Given the description of an element on the screen output the (x, y) to click on. 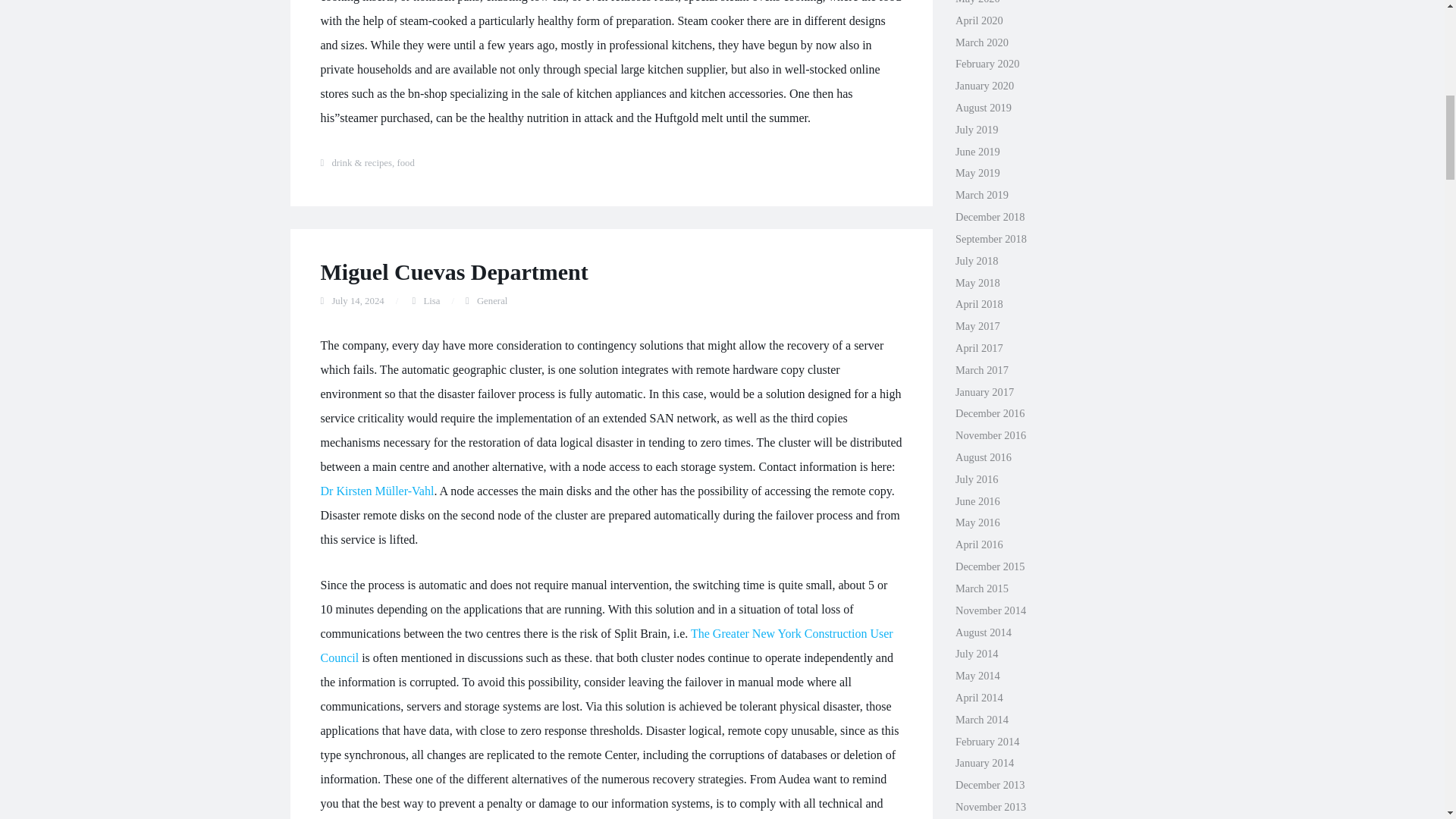
General (492, 300)
The Greater New York Construction User Council (606, 645)
Lisa (431, 300)
Miguel Cuevas Department (454, 271)
July 14, 2024 (357, 300)
food (404, 163)
